Given the description of an element on the screen output the (x, y) to click on. 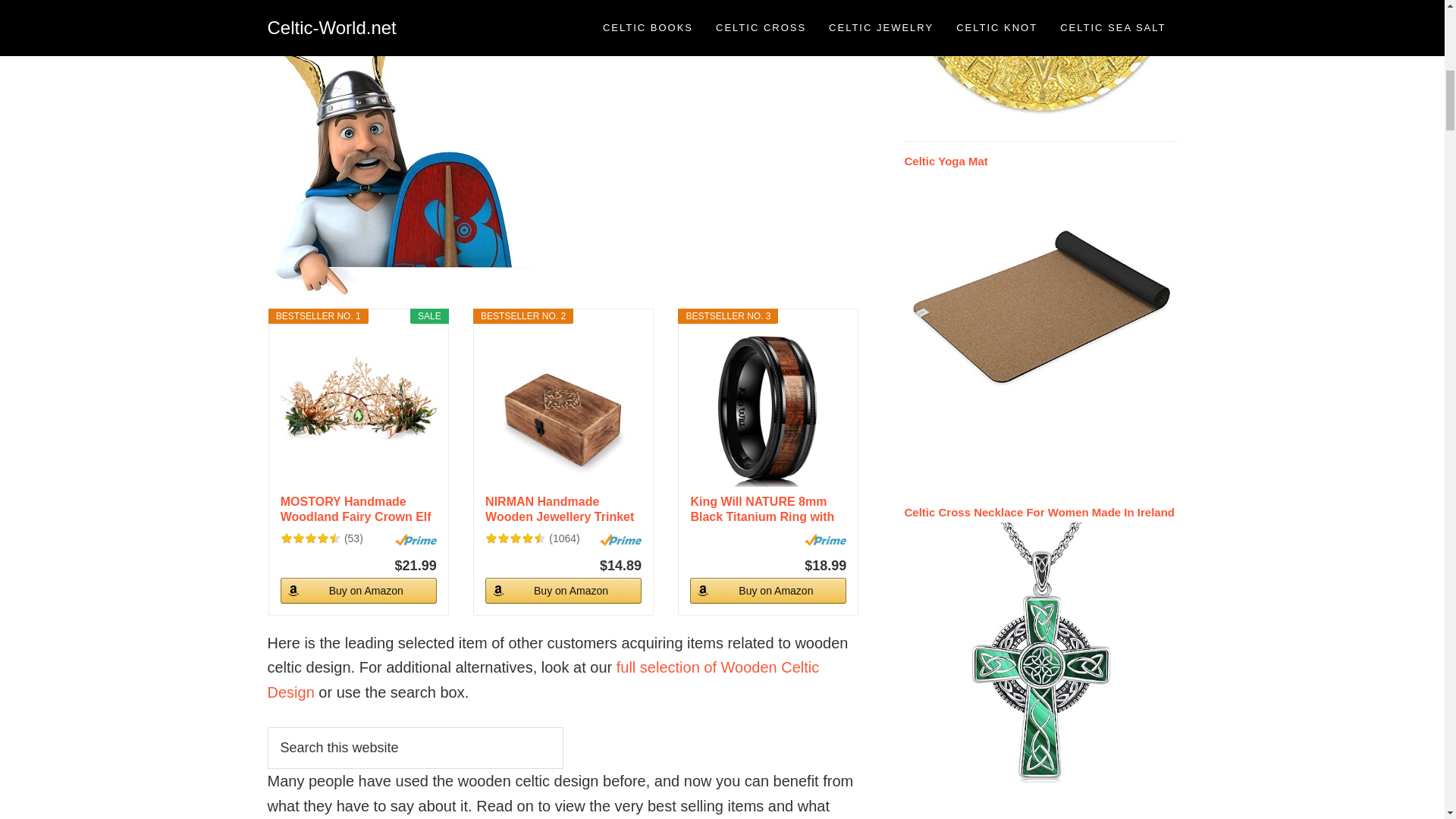
MOSTORY Handmade Woodland Fairy Crown Elf Forest... (358, 509)
Amazon Prime (415, 539)
Buy on Amazon (563, 590)
Buy on Amazon (358, 590)
Buy on Amazon (767, 590)
Reviews on Amazon (515, 538)
Buy on Amazon (358, 590)
Reviews on Amazon (310, 538)
